Given the description of an element on the screen output the (x, y) to click on. 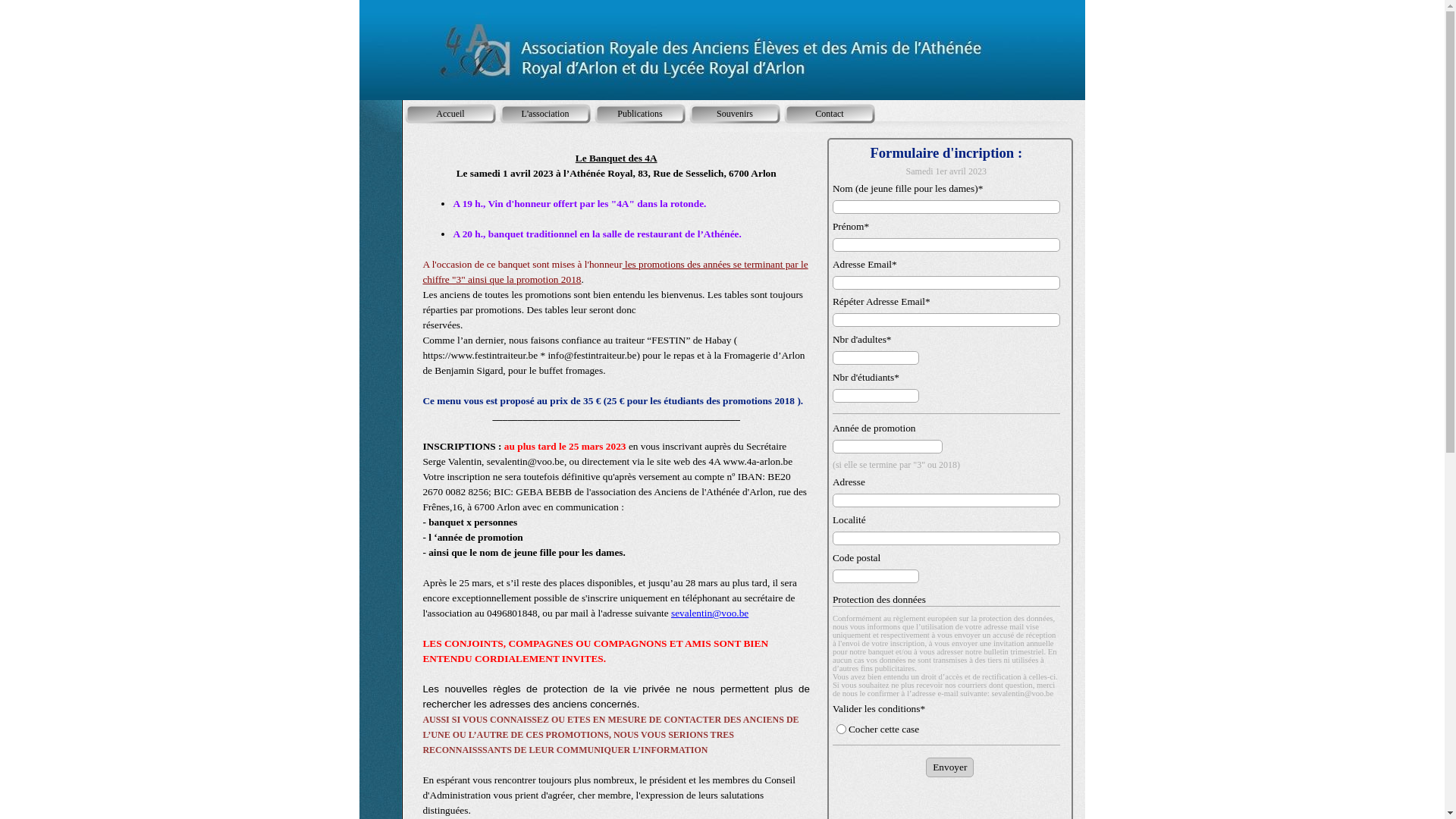
sevalentin@voo.be Element type: text (709, 612)
Accueil Element type: text (450, 113)
Contact Element type: text (829, 113)
